Given the description of an element on the screen output the (x, y) to click on. 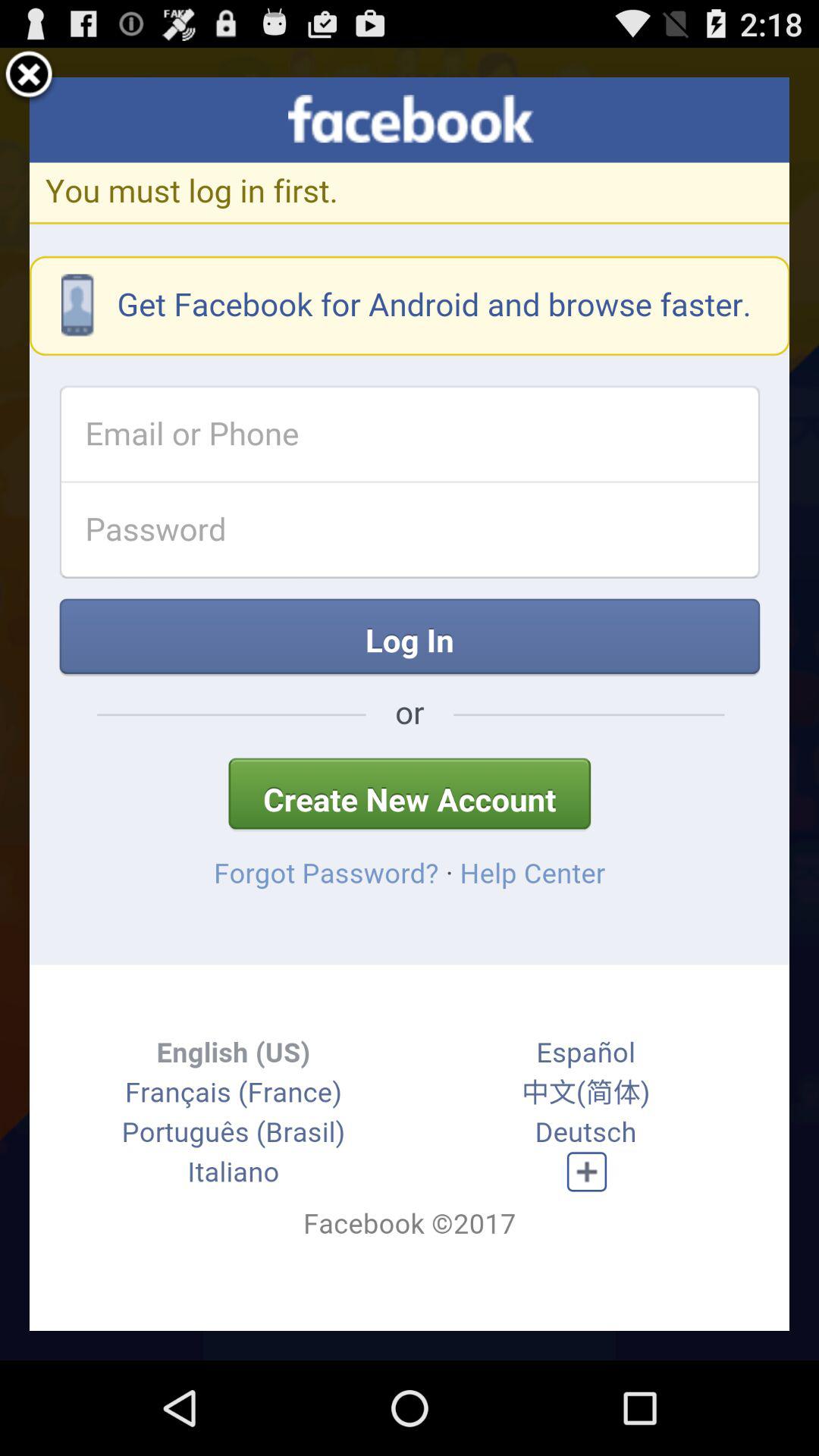
close button (29, 76)
